Given the description of an element on the screen output the (x, y) to click on. 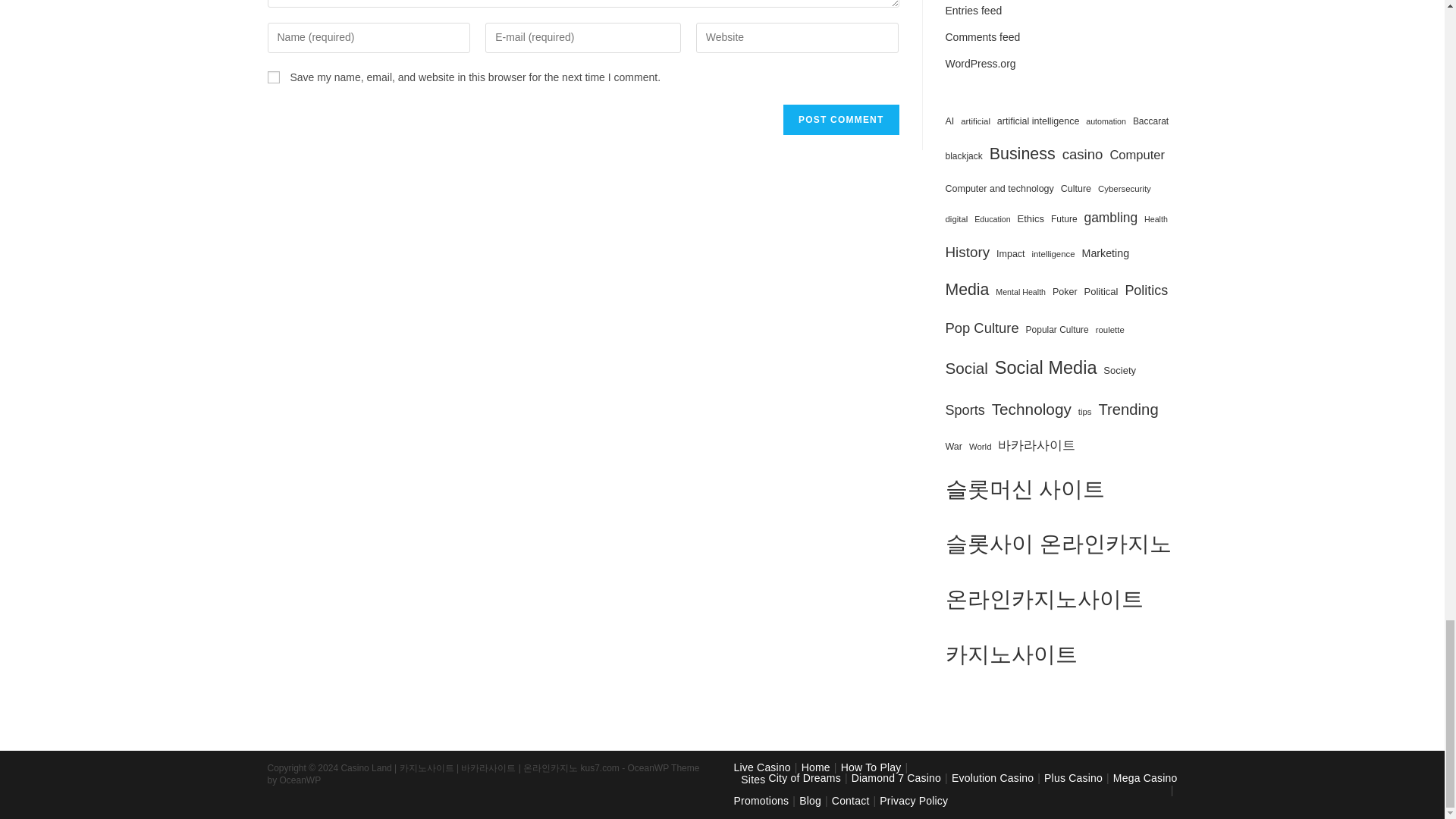
Post Comment (840, 119)
yes (272, 77)
